Given the description of an element on the screen output the (x, y) to click on. 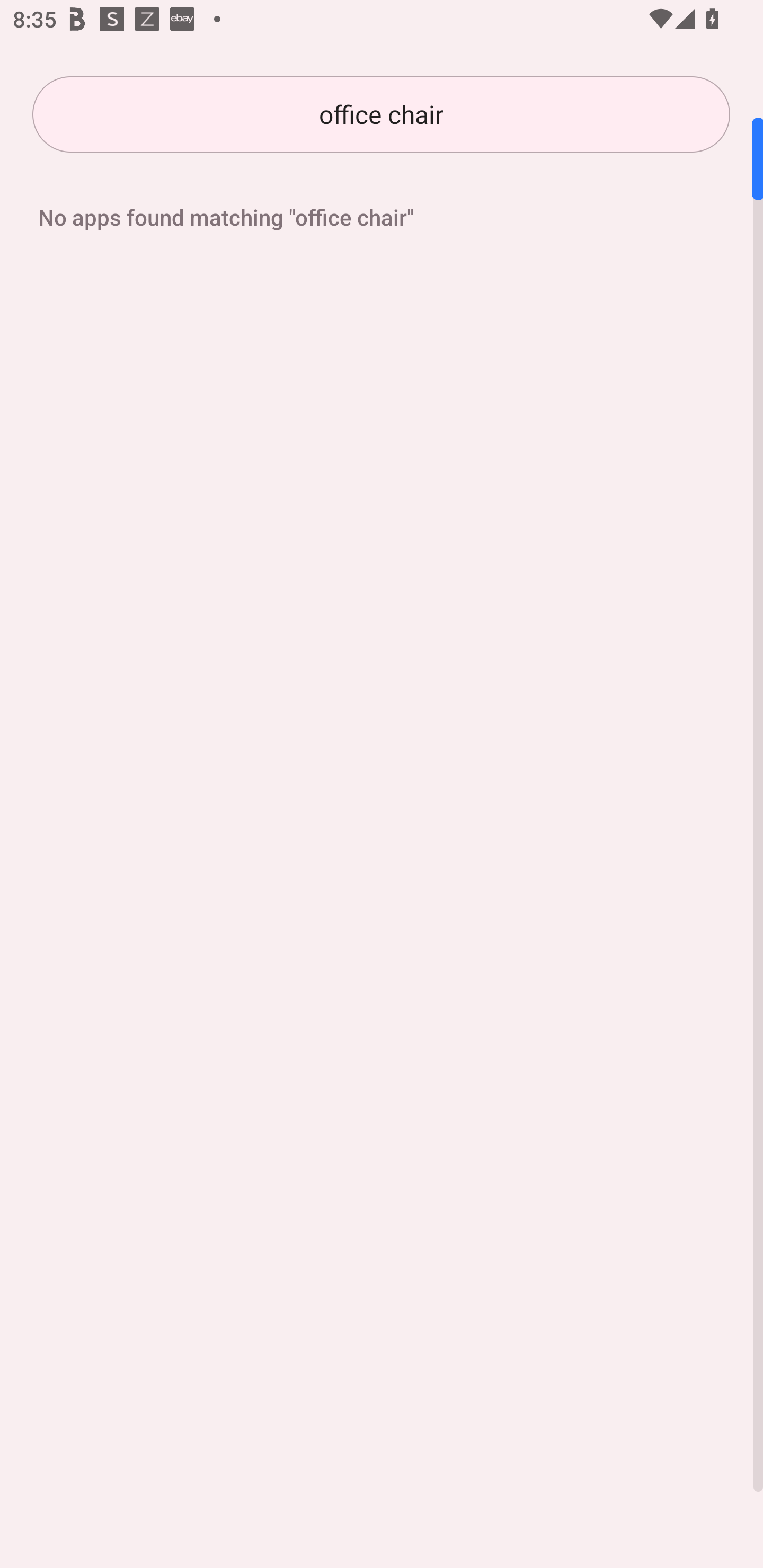
office chair (381, 114)
